Given the description of an element on the screen output the (x, y) to click on. 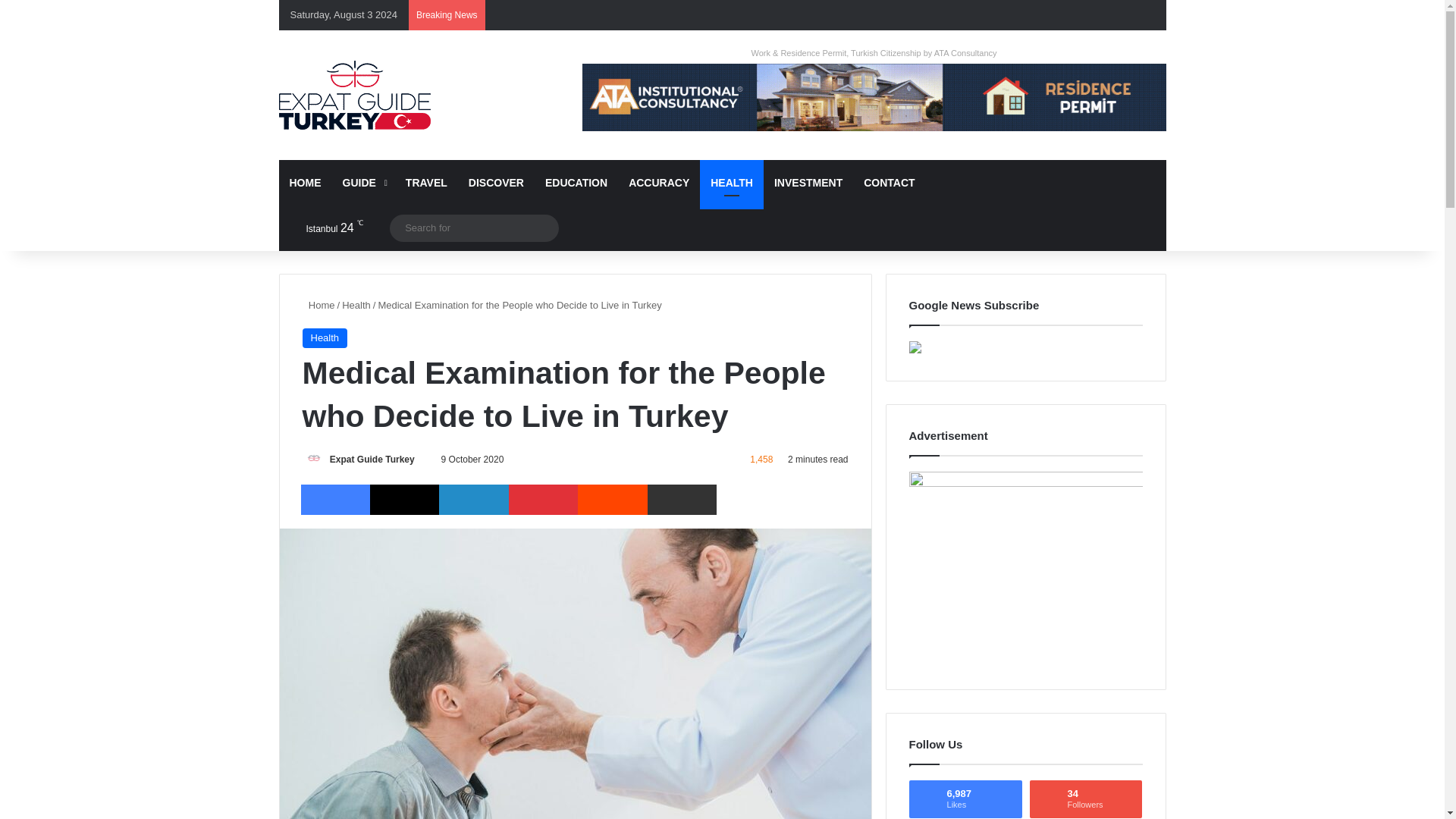
X (404, 499)
GUIDE (362, 182)
Expat Guide Turkey (372, 459)
Search for (543, 227)
HEALTH (731, 182)
Sidebar (1119, 15)
Health (324, 338)
CONTACT (888, 182)
Facebook (1005, 15)
Clear Sky (321, 227)
Search for (474, 227)
LinkedIn (473, 499)
Health (356, 305)
Switch skin (1142, 15)
HOME (305, 182)
